Given the description of an element on the screen output the (x, y) to click on. 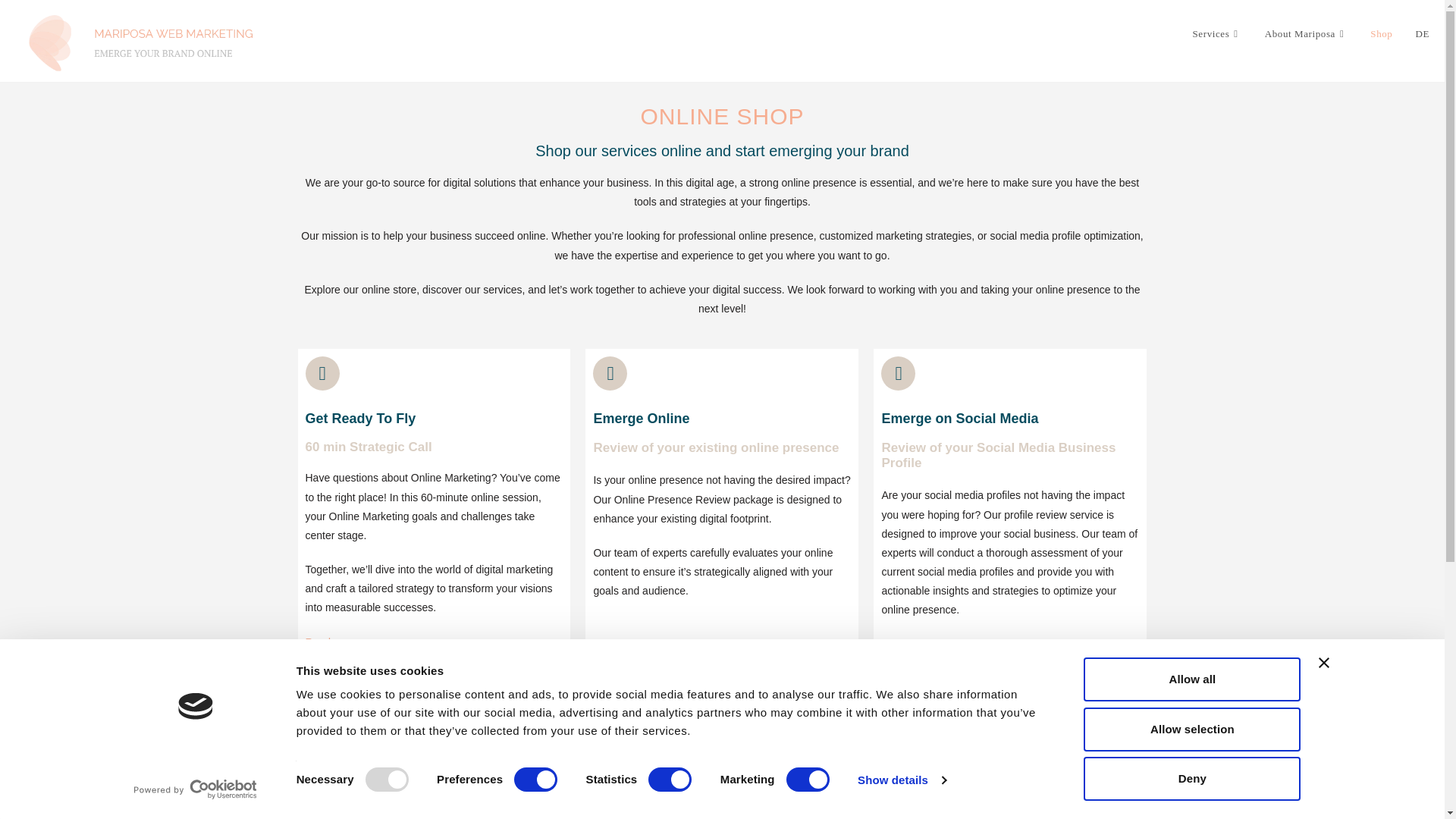
Show details (900, 780)
Deny (1191, 778)
Services (1216, 33)
Allow selection (1191, 728)
Allow all (1191, 679)
